Given the description of an element on the screen output the (x, y) to click on. 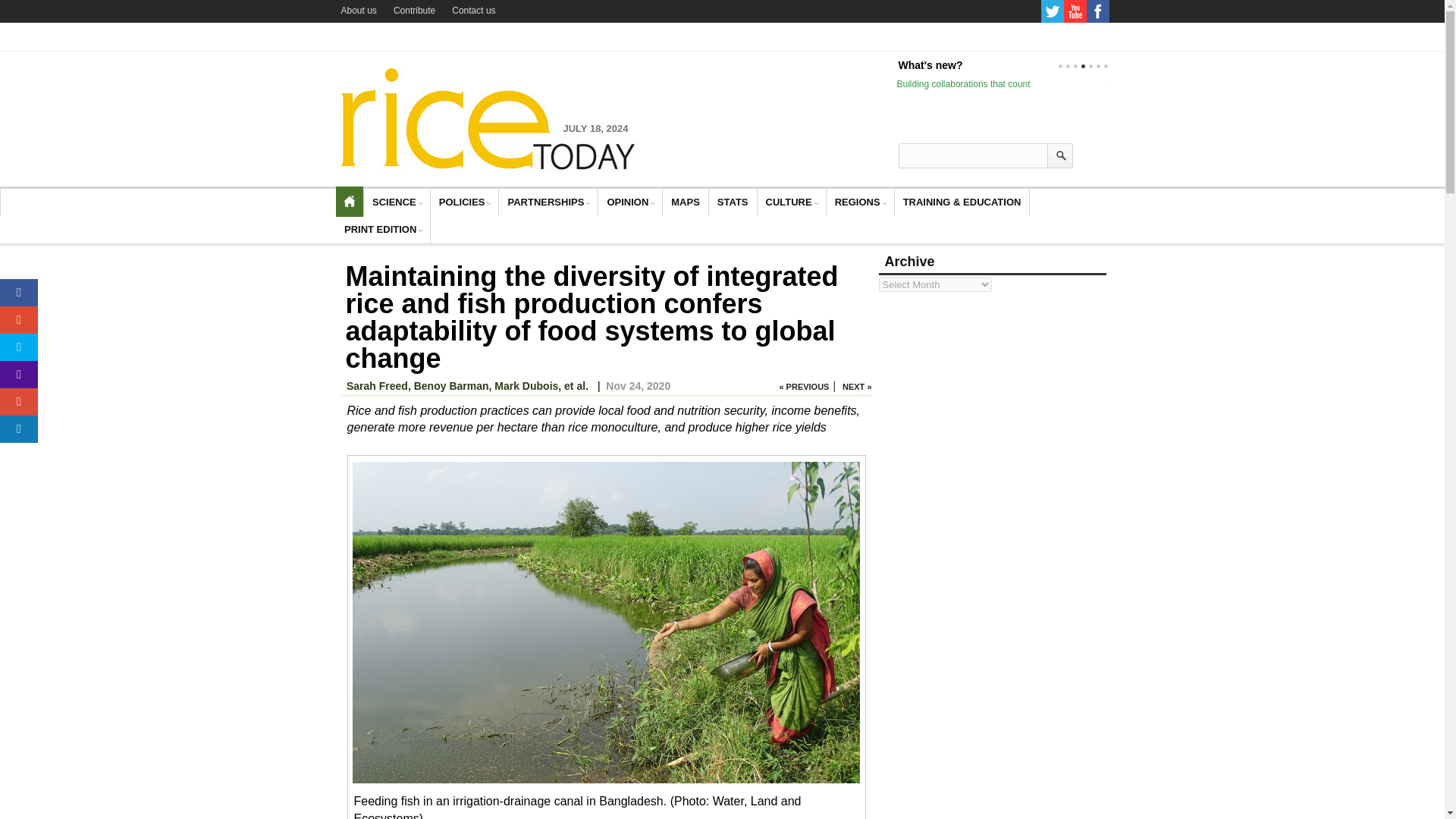
Contact us (473, 11)
HOME (349, 201)
POLICIES (461, 202)
OPINION (627, 202)
twitter (1051, 11)
youtube (1074, 11)
facebook (1097, 11)
SCIENCE (393, 202)
Contribute (414, 11)
